Given the description of an element on the screen output the (x, y) to click on. 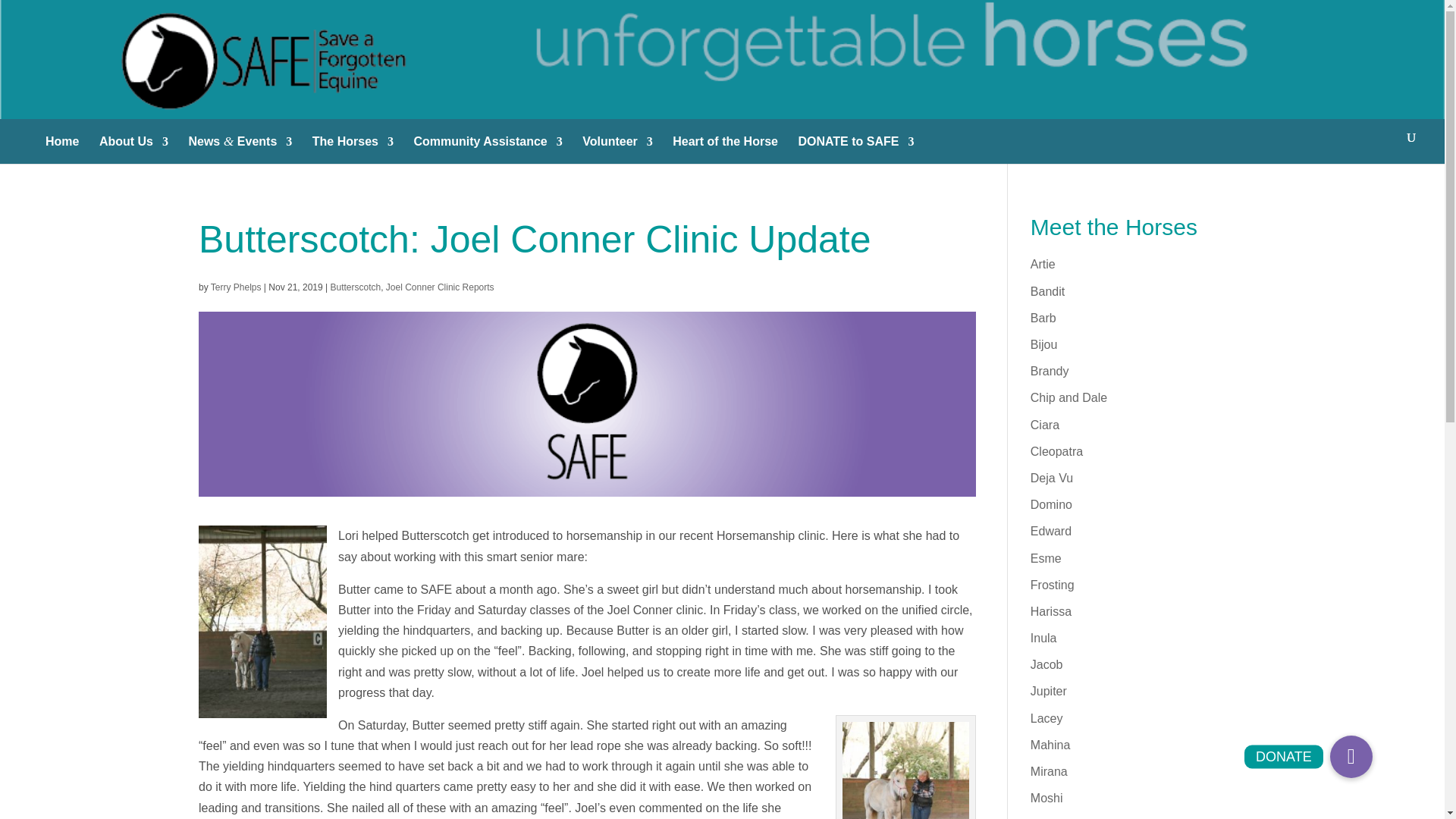
Posts by Terry Phelps (236, 286)
DONATE to SAFE (855, 147)
About Us (133, 147)
Volunteer (617, 147)
Home (61, 147)
Heart of the Horse (724, 147)
Community Assistance (487, 147)
The Horses (353, 147)
